Given the description of an element on the screen output the (x, y) to click on. 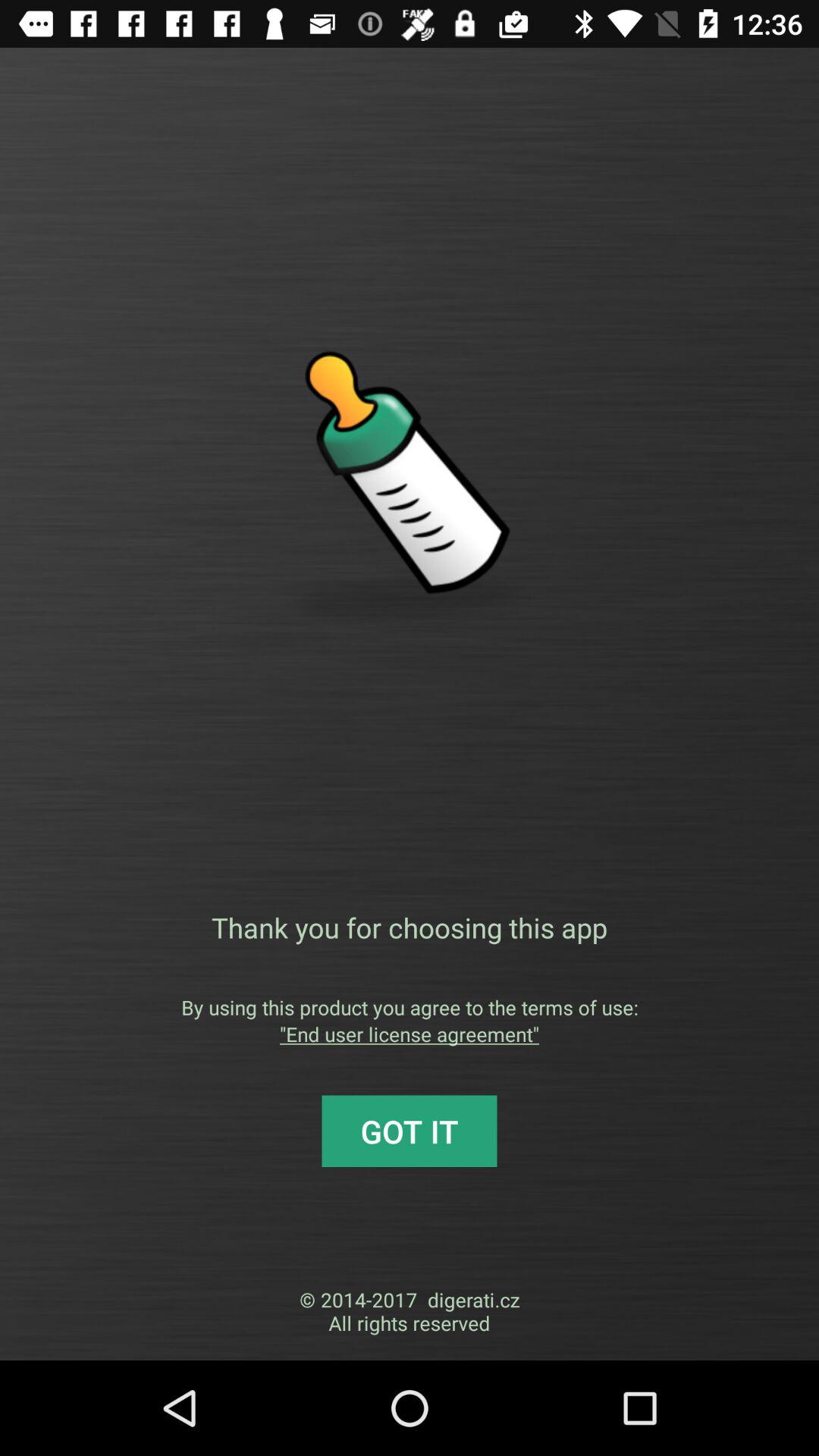
choose the by using this app (409, 1007)
